Given the description of an element on the screen output the (x, y) to click on. 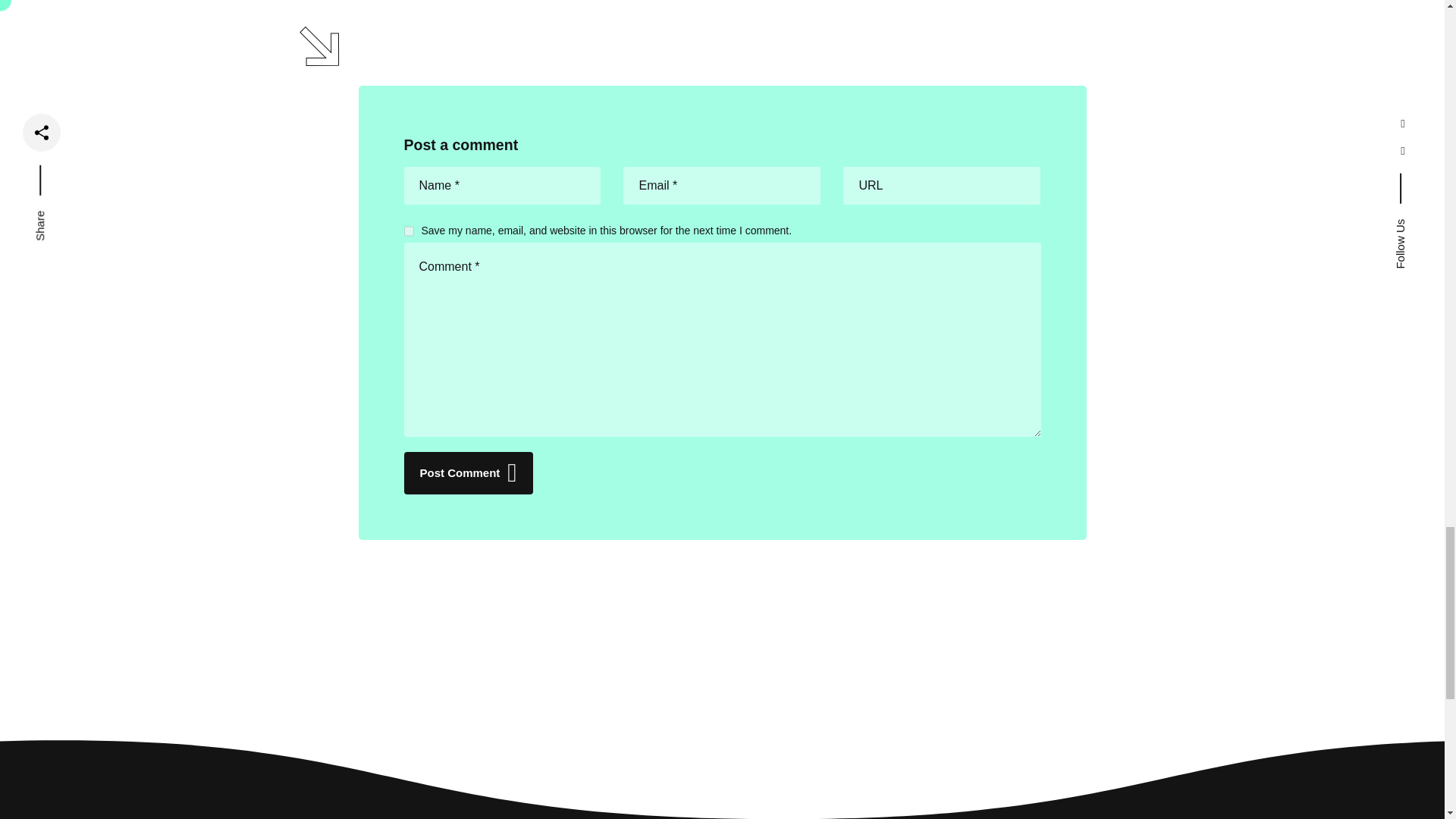
Post Comment (467, 473)
yes (408, 231)
